Given the description of an element on the screen output the (x, y) to click on. 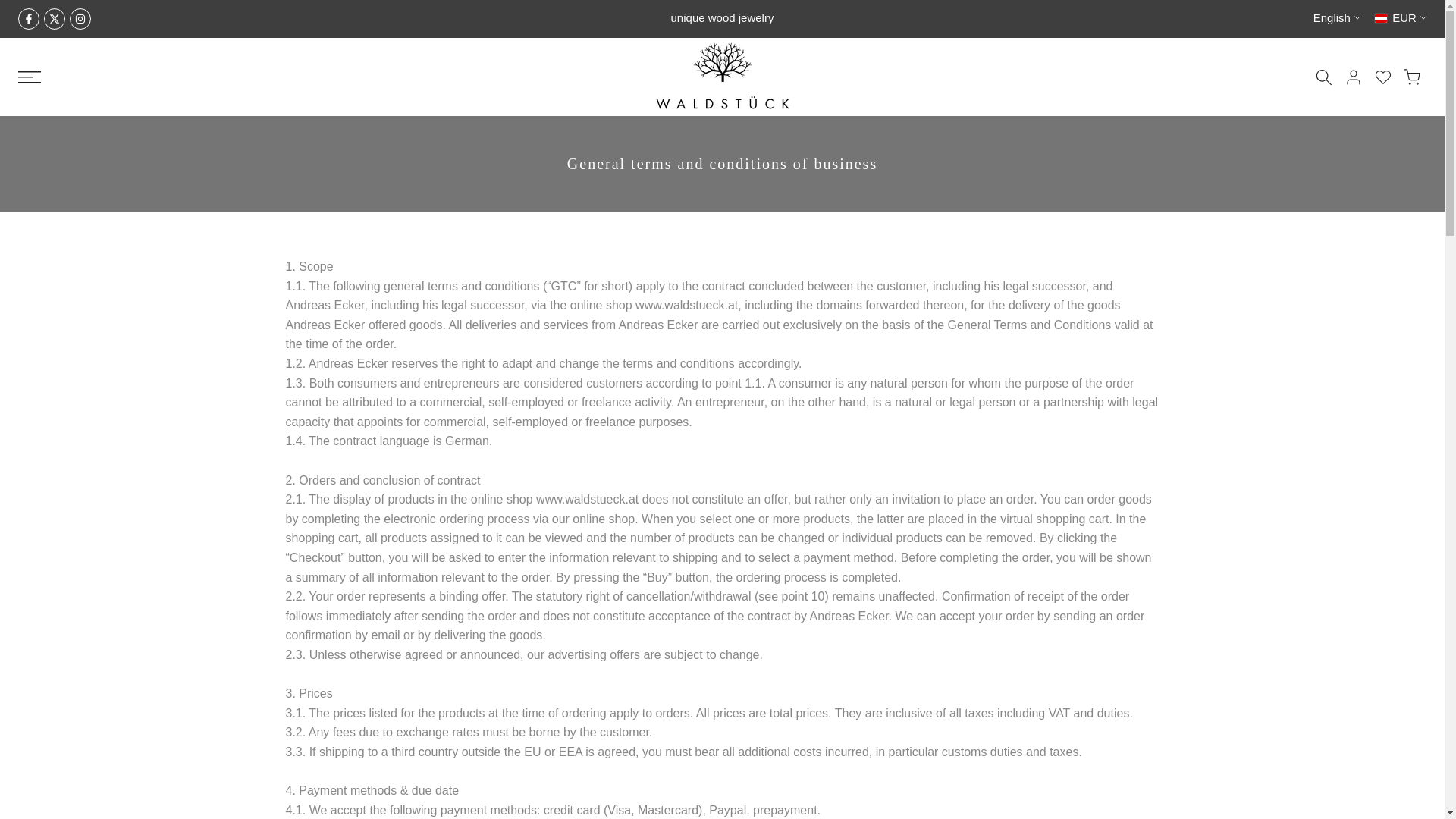
English (1336, 17)
Follow on Twitter (54, 18)
Follow on Instagram (79, 18)
Follow on Facebook (28, 18)
EUR (1400, 17)
Skip to content (10, 7)
